Given the description of an element on the screen output the (x, y) to click on. 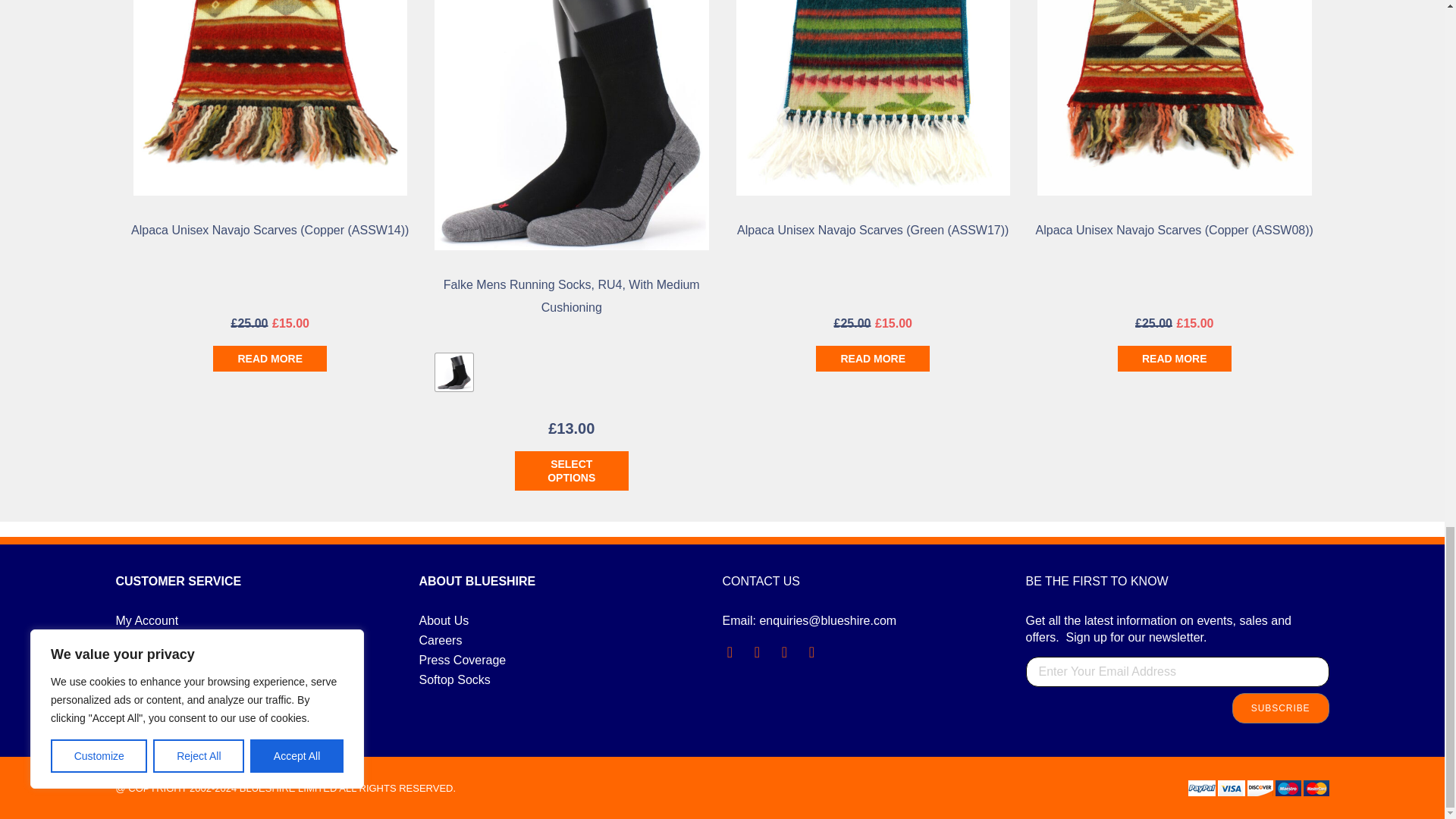
Black (454, 371)
